Given the description of an element on the screen output the (x, y) to click on. 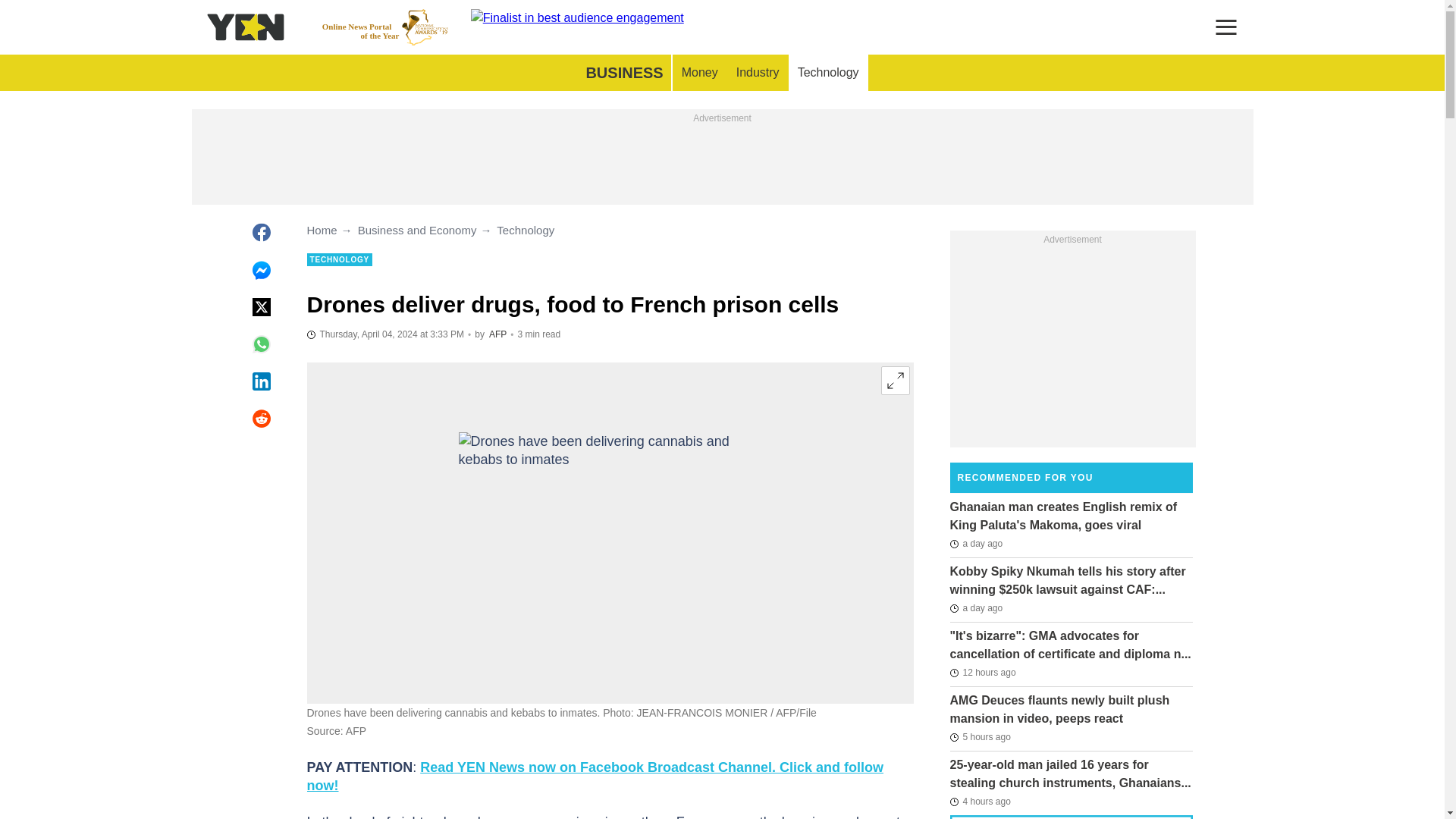
Expand image (384, 27)
2024-04-04T15:33:06Z (895, 380)
Industry (384, 334)
Author page (757, 72)
FB Broadcast Channel (497, 334)
Technology (594, 776)
Drones have been delivering cannabis and kebabs to inmates (828, 72)
Money (609, 532)
BUSINESS (699, 72)
